Given the description of an element on the screen output the (x, y) to click on. 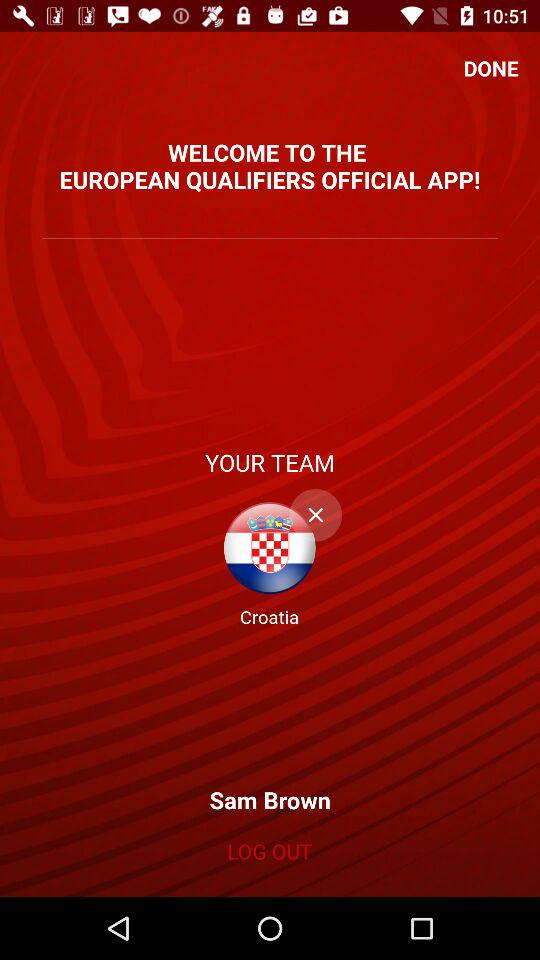
swipe to the done item (491, 68)
